Given the description of an element on the screen output the (x, y) to click on. 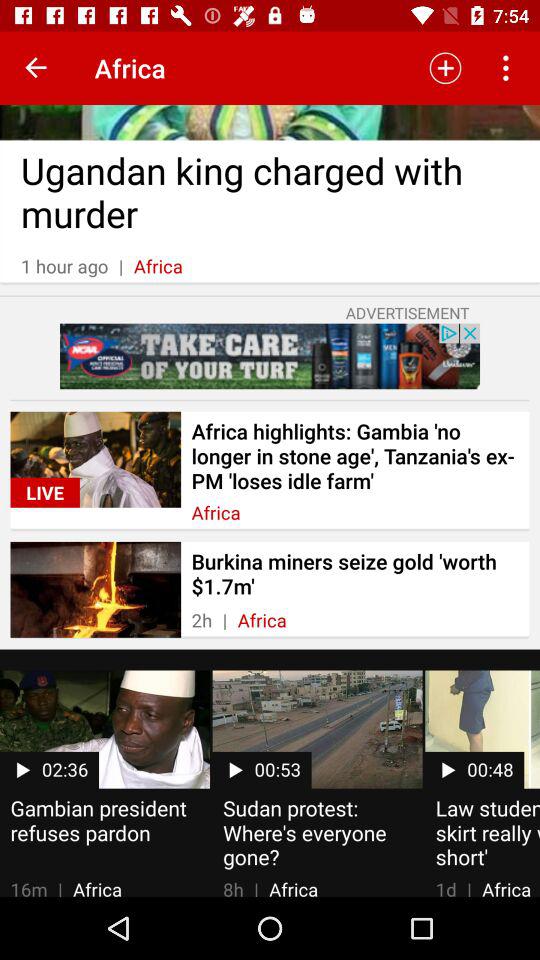
view advertisement (270, 356)
